Given the description of an element on the screen output the (x, y) to click on. 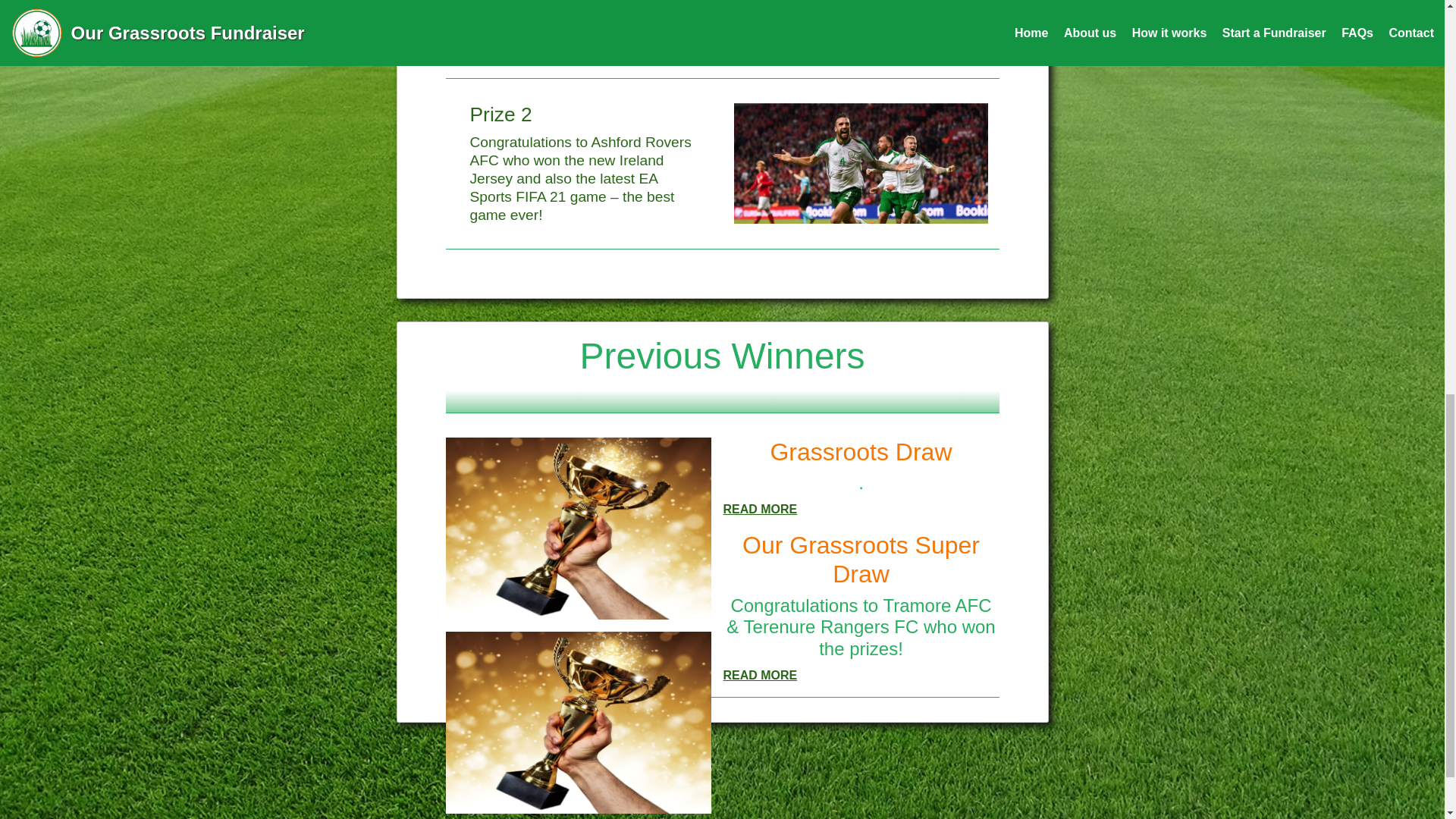
READ MORE (760, 508)
READ MORE (760, 675)
